Given the description of an element on the screen output the (x, y) to click on. 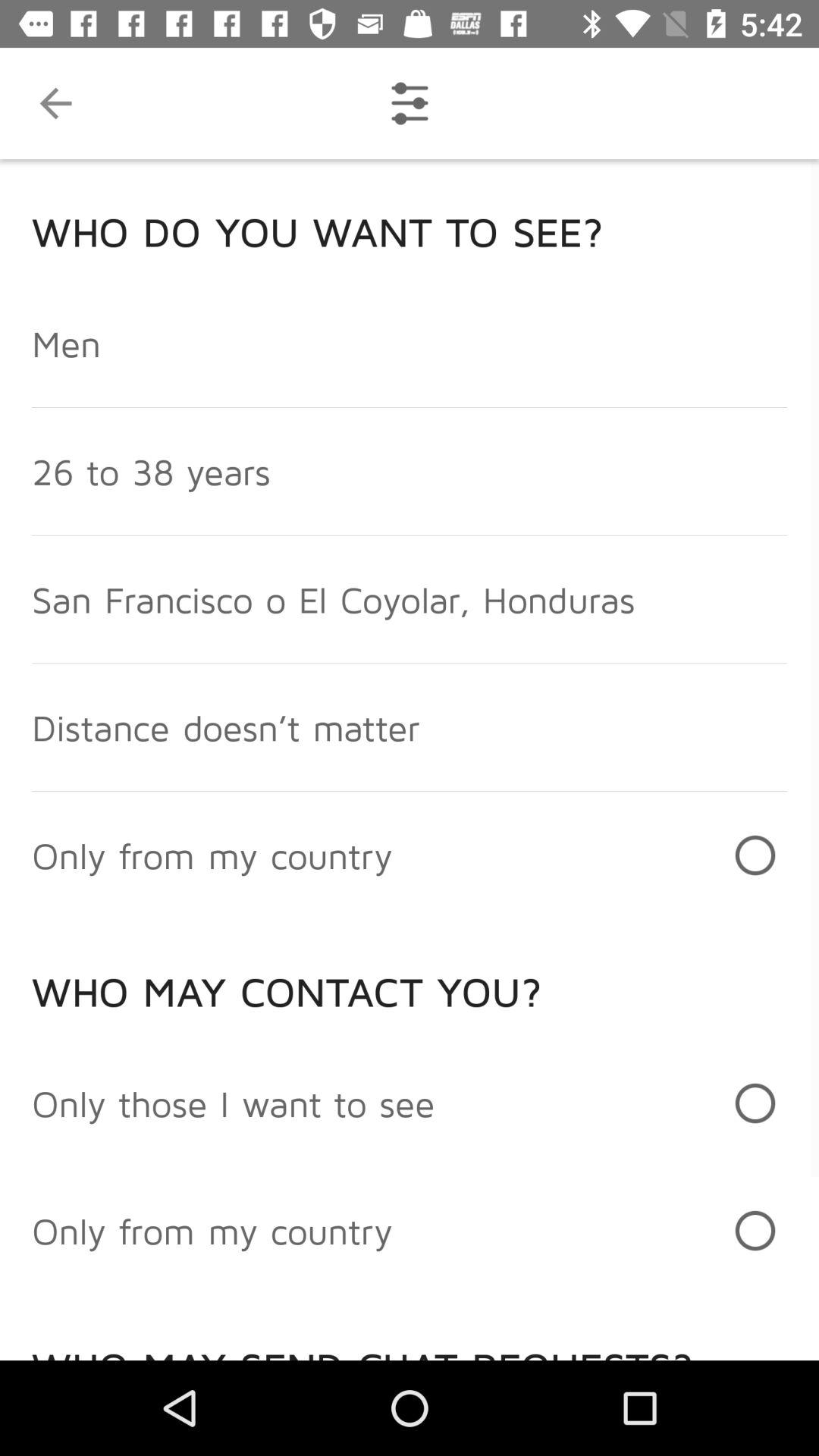
turn on the distance doesn t item (225, 727)
